Given the description of an element on the screen output the (x, y) to click on. 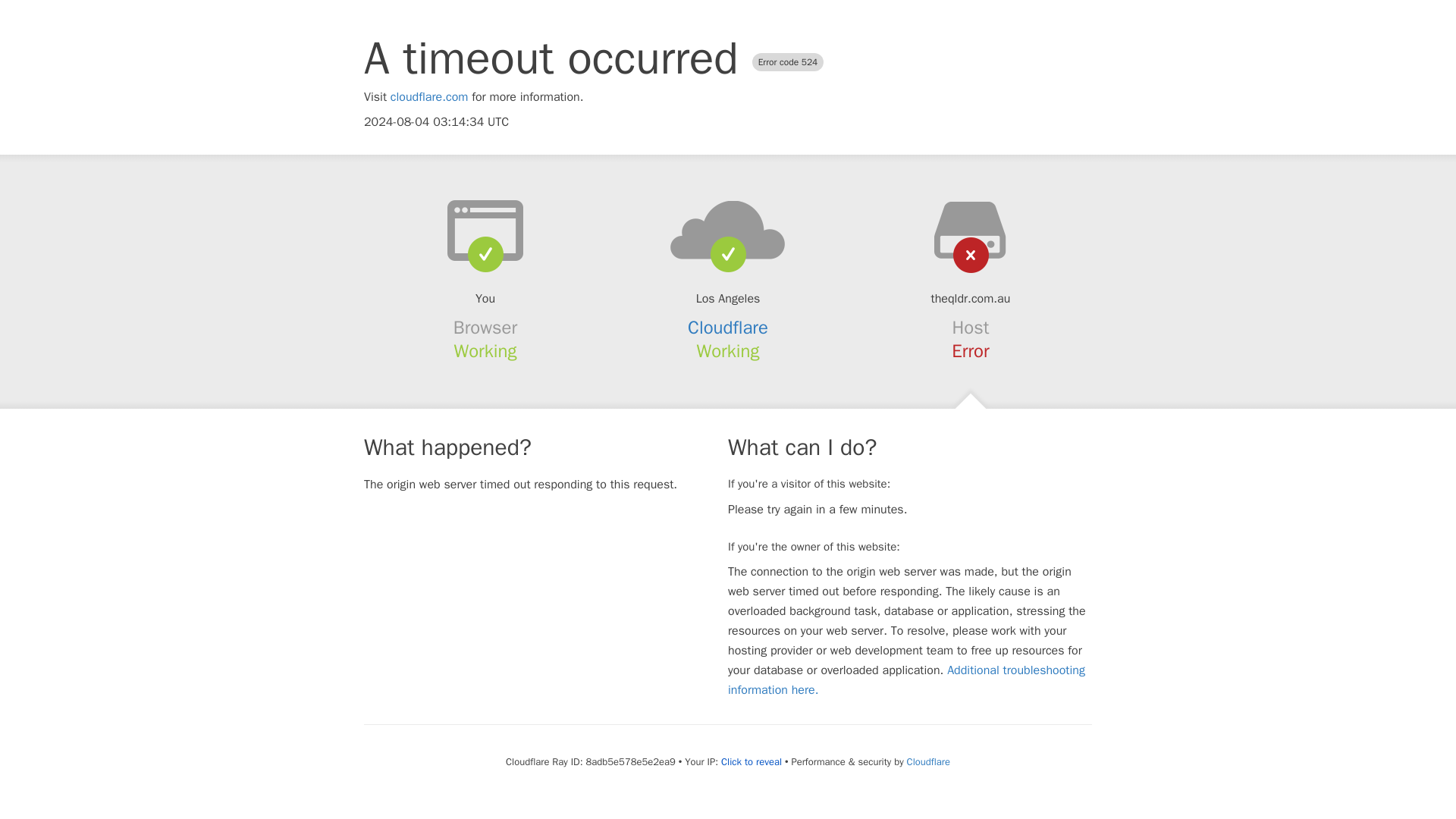
Cloudflare (727, 327)
Click to reveal (750, 762)
Additional troubleshooting information here. (906, 679)
Cloudflare (928, 761)
cloudflare.com (429, 96)
